Given the description of an element on the screen output the (x, y) to click on. 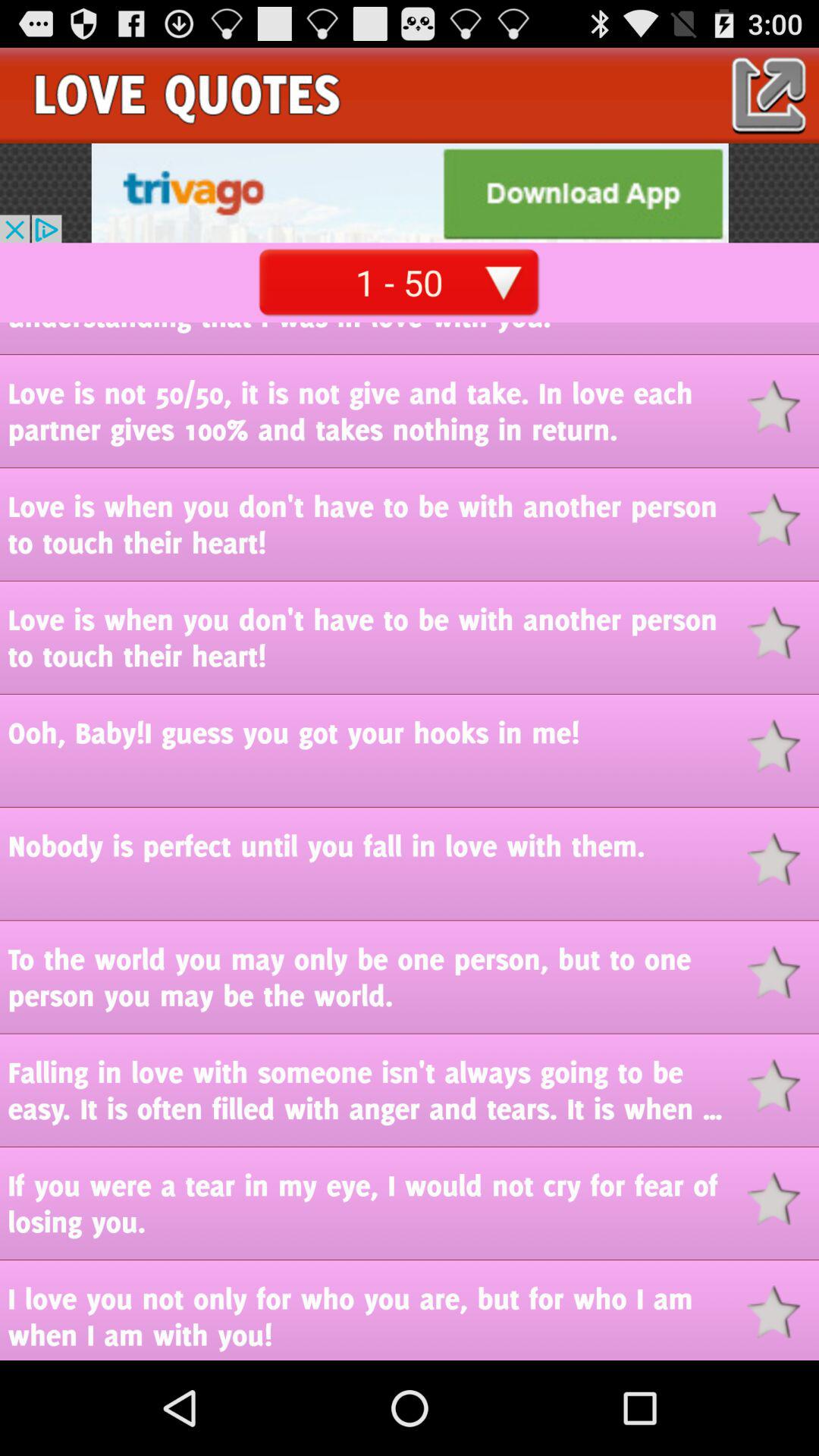
mark quote as favorite (783, 1085)
